Given the description of an element on the screen output the (x, y) to click on. 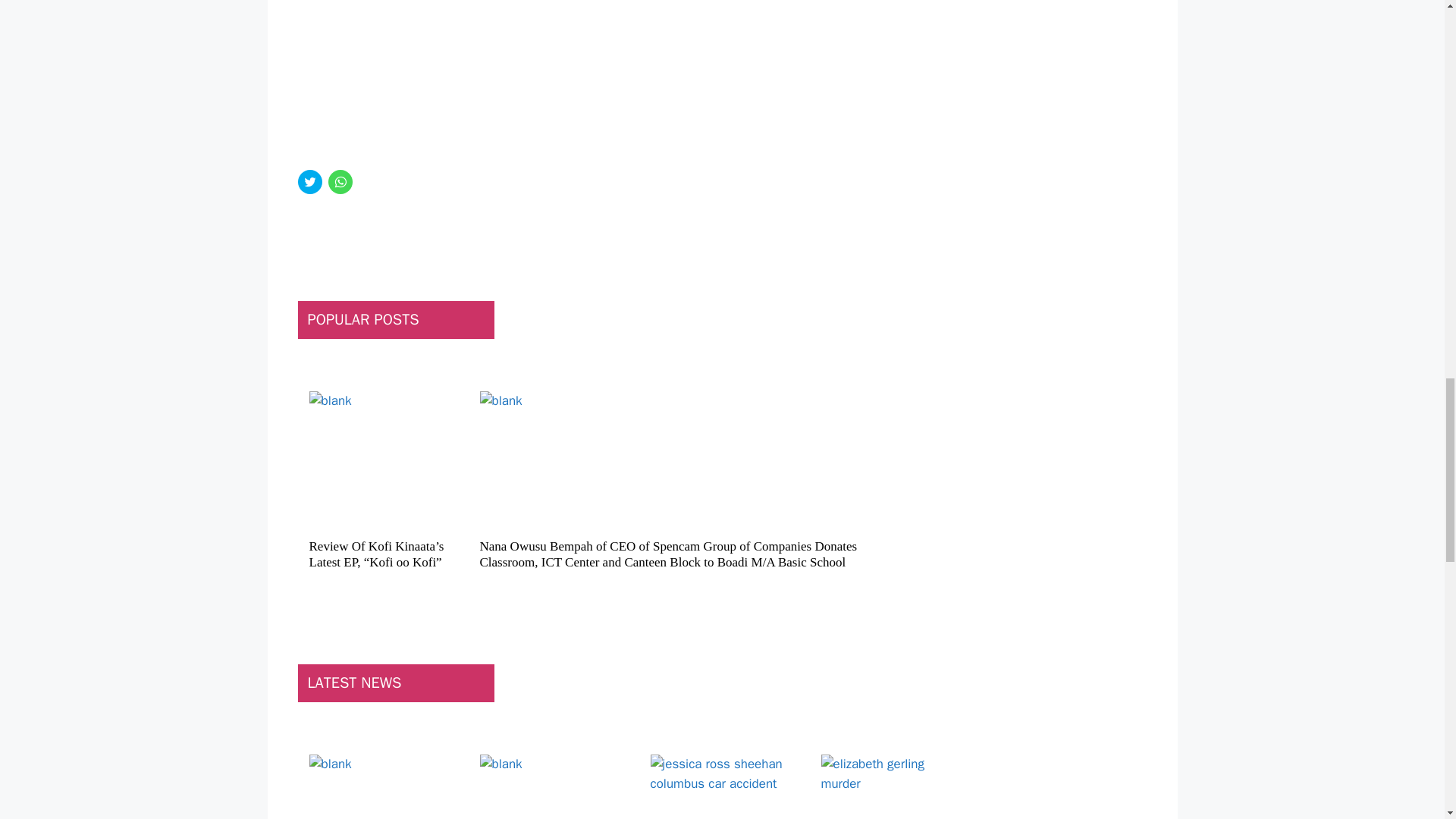
Click to share on Twitter (309, 181)
Click to share on WhatsApp (339, 181)
Advertisement (578, 84)
